Given the description of an element on the screen output the (x, y) to click on. 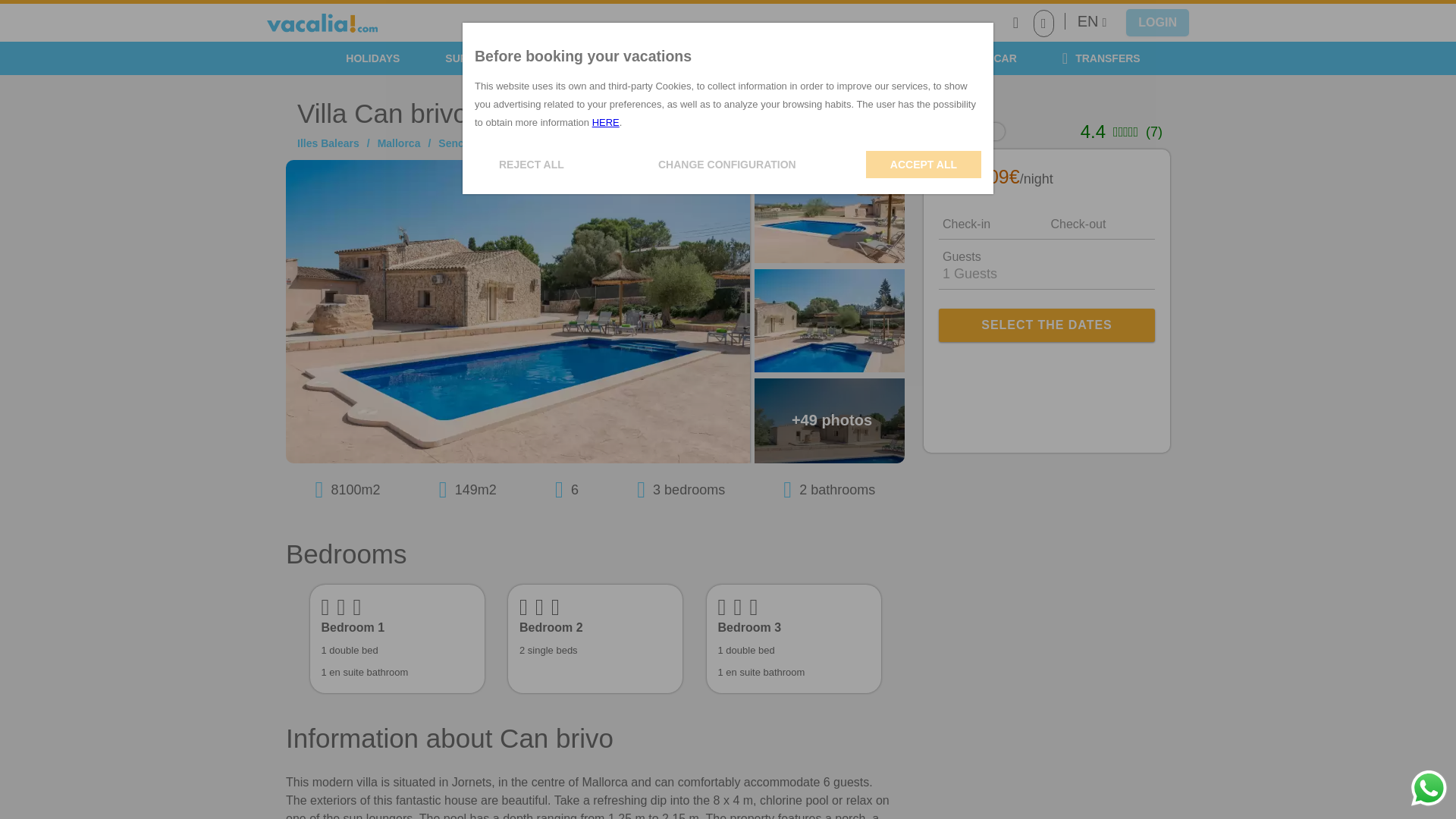
TAILOR-MADE HOLIDAY RENTALS - Vacalia.com (321, 22)
1 Guests (1046, 274)
SUPER DEALS (482, 58)
VACATION RENTAL CATEGORIES (806, 58)
RENT A CAR (977, 58)
LOGIN (1157, 22)
TRANSFERS (1101, 58)
LAST-MINUTE DEALS (620, 58)
EN (1091, 21)
